Given the description of an element on the screen output the (x, y) to click on. 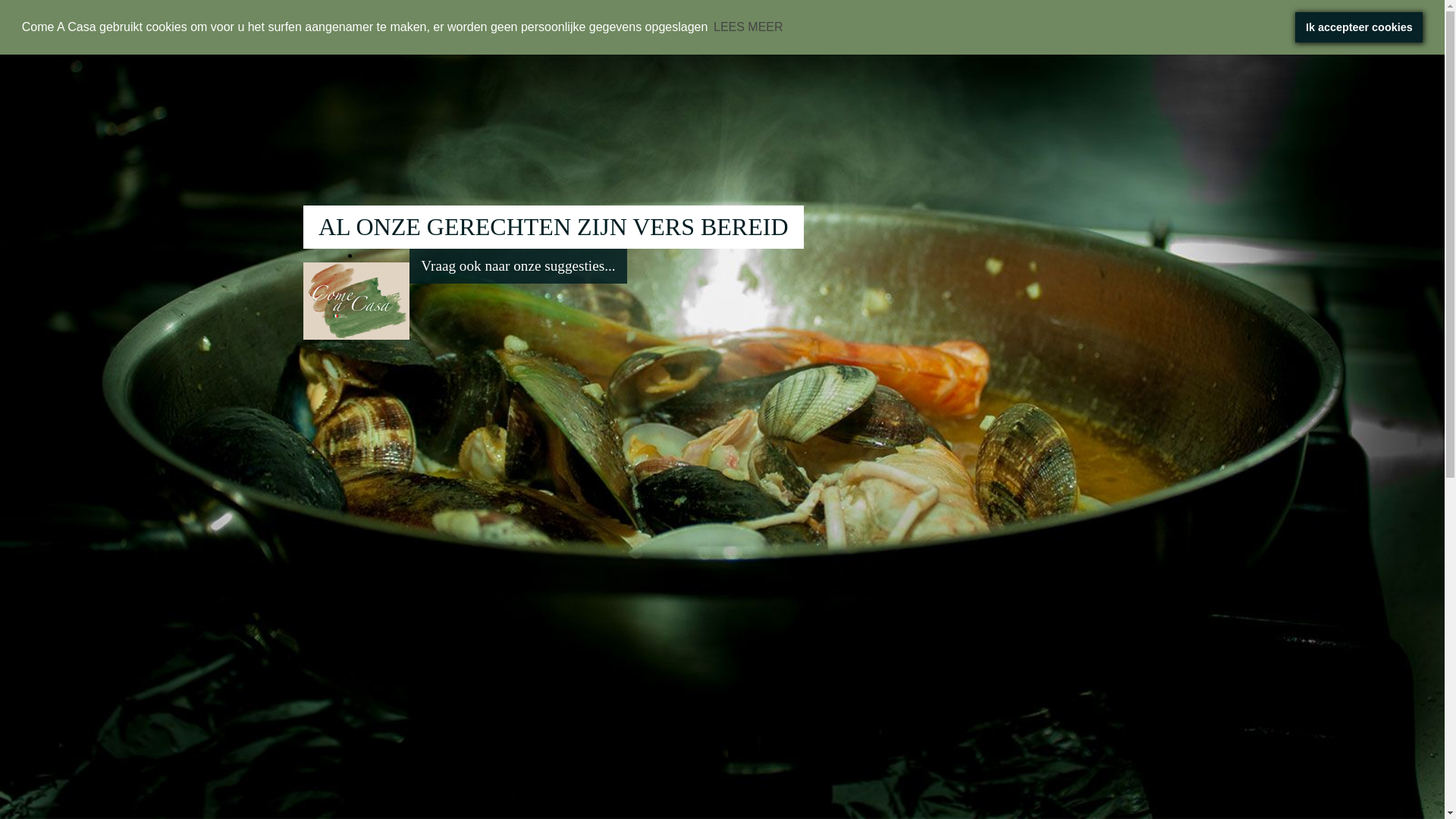
FESTA DE LA PIZZA PAZZA Element type: text (779, 20)
MENU Element type: text (509, 20)
Ik accepteer cookies Element type: text (1358, 27)
COME A CASA Element type: text (415, 20)
LEES MEER Element type: text (748, 26)
ITALIAANS TAFELEN Element type: text (622, 20)
HOME Element type: text (326, 20)
